Given the description of an element on the screen output the (x, y) to click on. 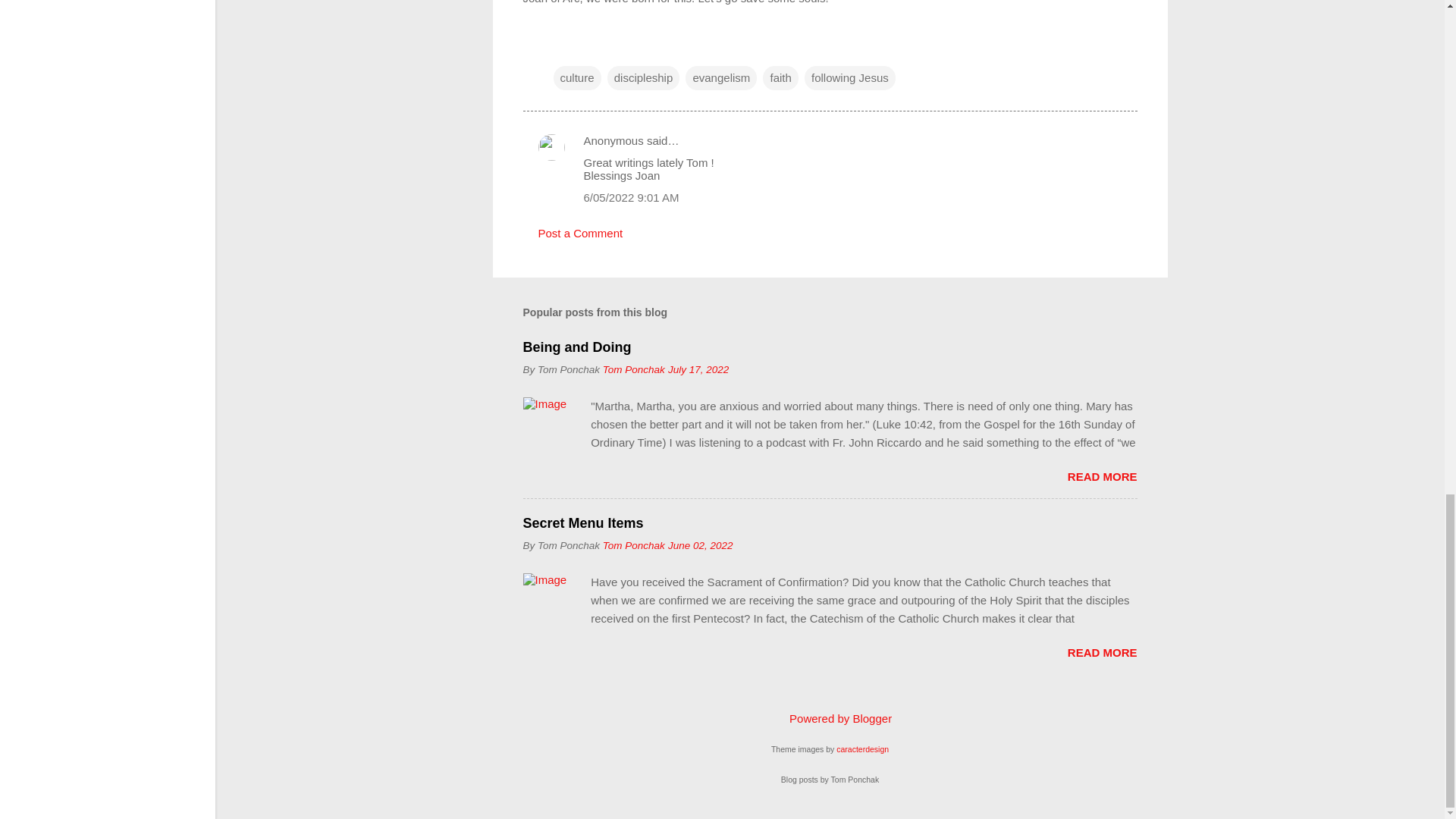
READ MORE (1102, 652)
June 02, 2022 (700, 545)
Secret Menu Items (582, 522)
Tom Ponchak (633, 545)
July 17, 2022 (698, 369)
caracterdesign (861, 748)
evangelism (721, 78)
READ MORE (1102, 476)
Post a Comment (580, 232)
Powered by Blogger (829, 717)
